Given the description of an element on the screen output the (x, y) to click on. 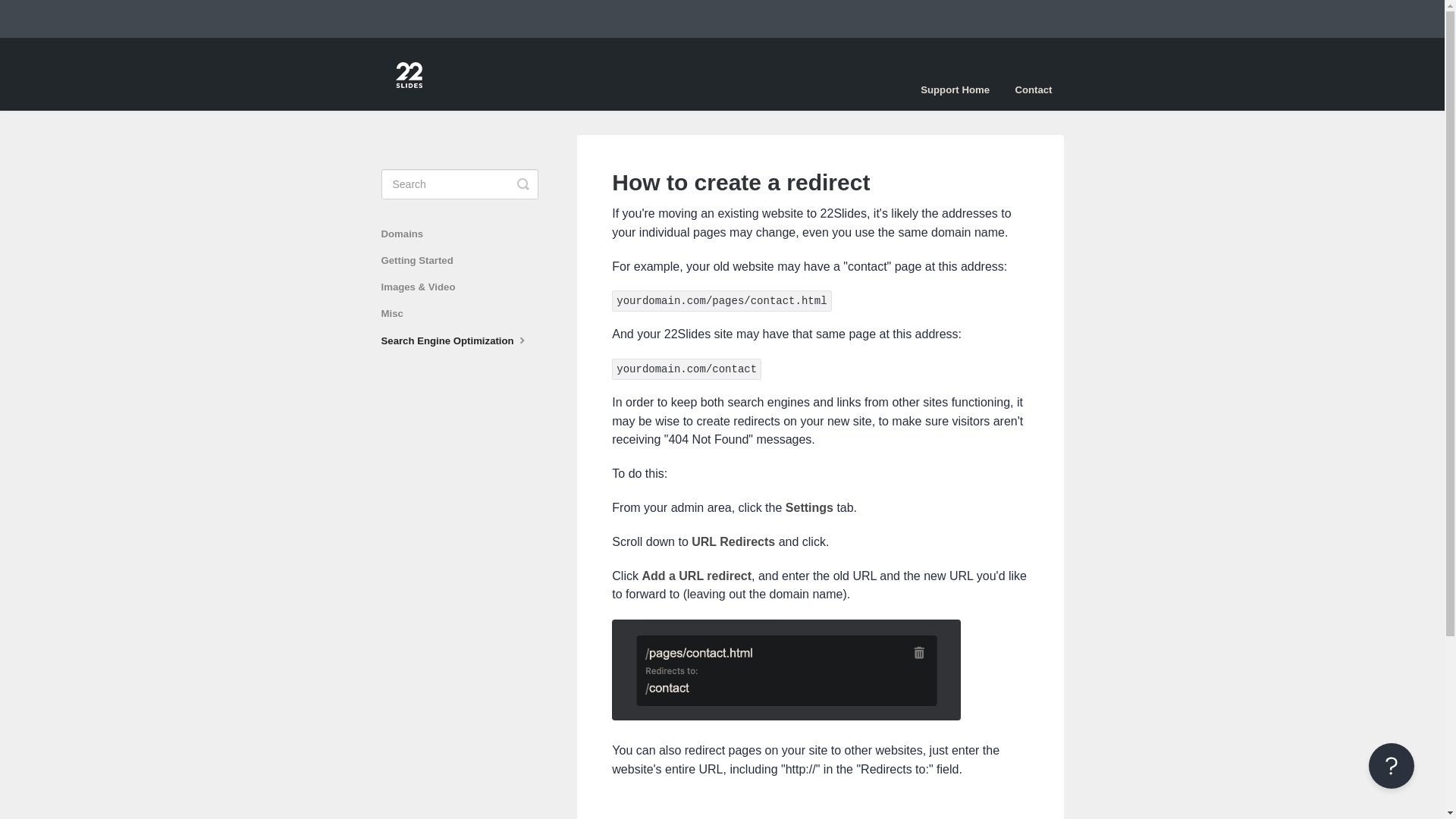
Misc Element type: text (397, 313)
Toggle Search Element type: text (523, 184)
Images & Video Element type: text (423, 287)
Getting Started Element type: text (422, 260)
Support Home Element type: text (955, 89)
Search Engine Optimization Element type: text (460, 340)
search-query Element type: hover (459, 184)
Domains Element type: text (407, 234)
Contact Element type: text (1033, 89)
